Given the description of an element on the screen output the (x, y) to click on. 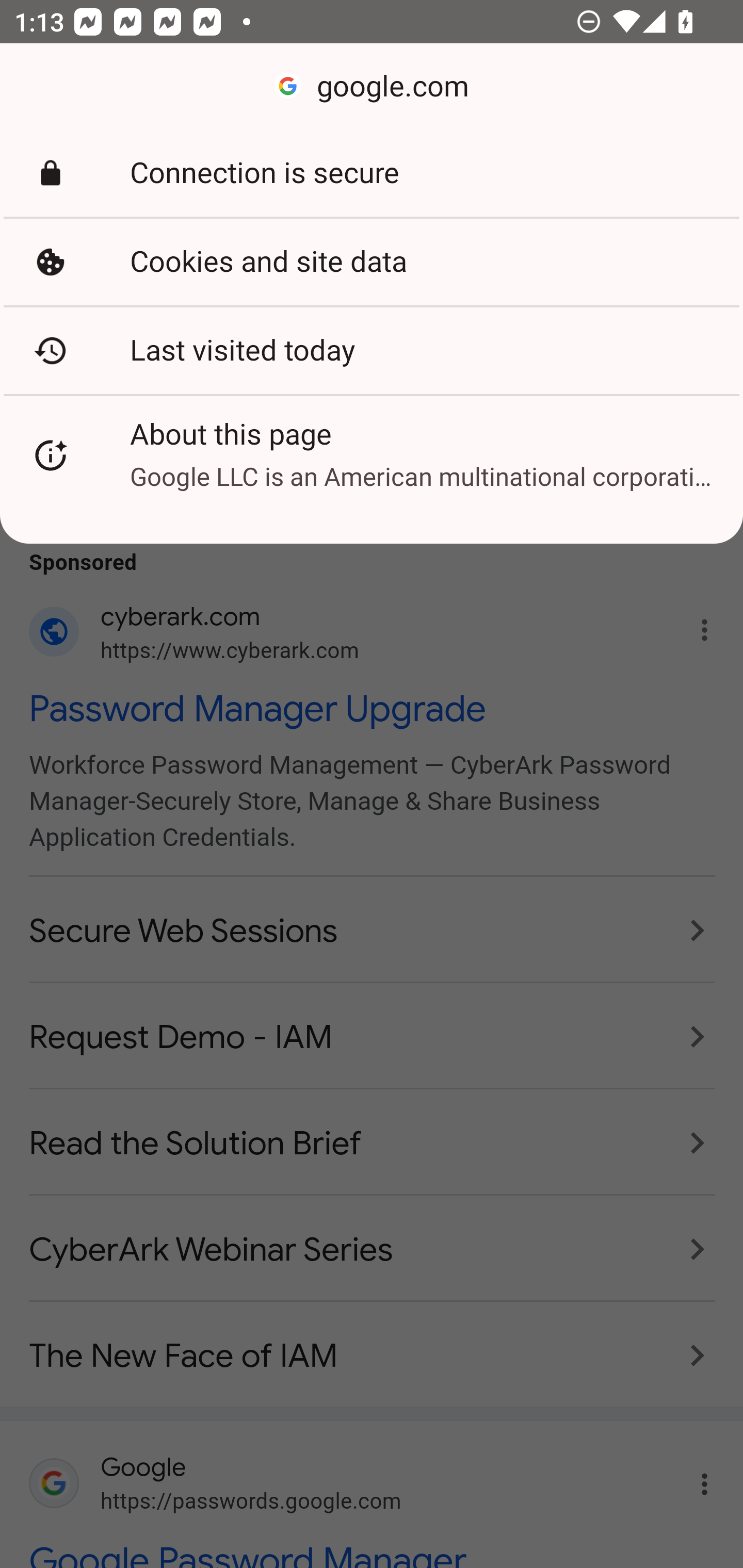
google.com (371, 86)
Connection is secure (371, 173)
Cookies and site data (371, 261)
Last visited today (371, 350)
